Given the description of an element on the screen output the (x, y) to click on. 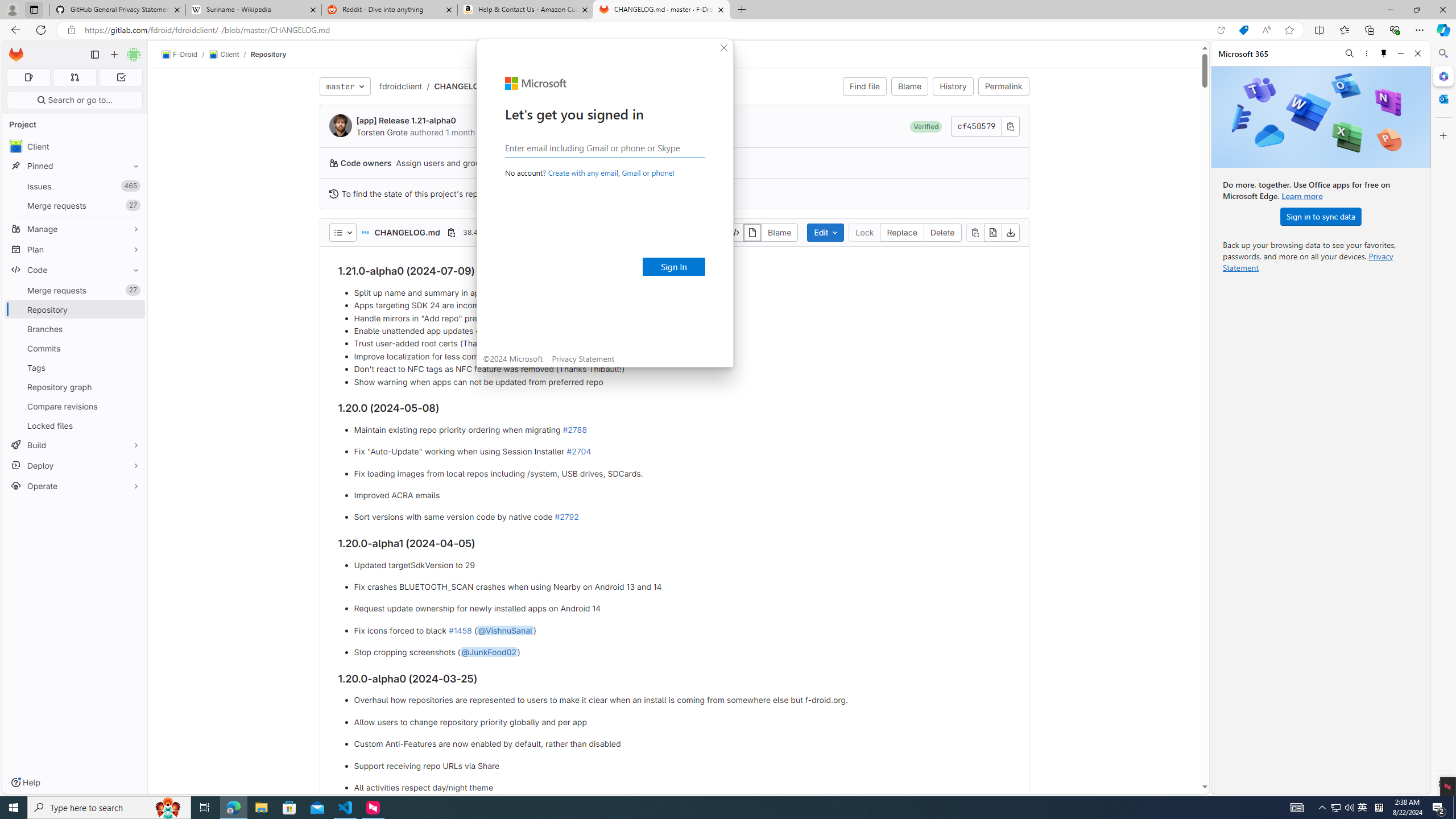
Pin Commits (132, 348)
Improved ACRA emails (681, 495)
Issues 465 (74, 185)
Download (1010, 232)
Pin Tags (132, 367)
Open in app (1220, 29)
Sign in to sync data (1320, 216)
All activities respect day/night theme (681, 787)
Torsten Grote's avatar (340, 125)
Settings and more (Alt+F) (1419, 29)
Action Center, 2 new notifications (1439, 807)
